Given the description of an element on the screen output the (x, y) to click on. 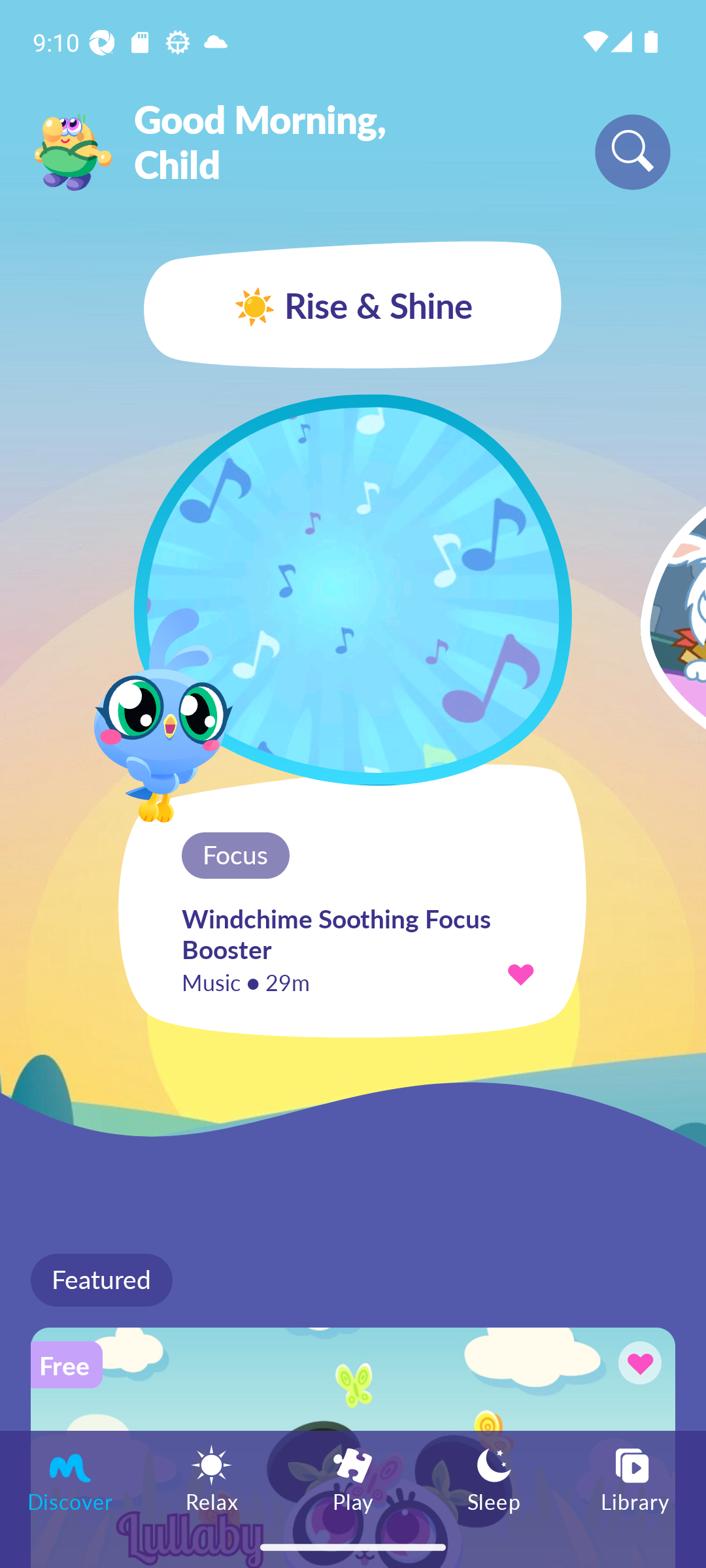
Search (632, 151)
action (520, 973)
Button (636, 1365)
Relax (211, 1478)
Play (352, 1478)
Sleep (493, 1478)
Library (635, 1478)
